Given the description of an element on the screen output the (x, y) to click on. 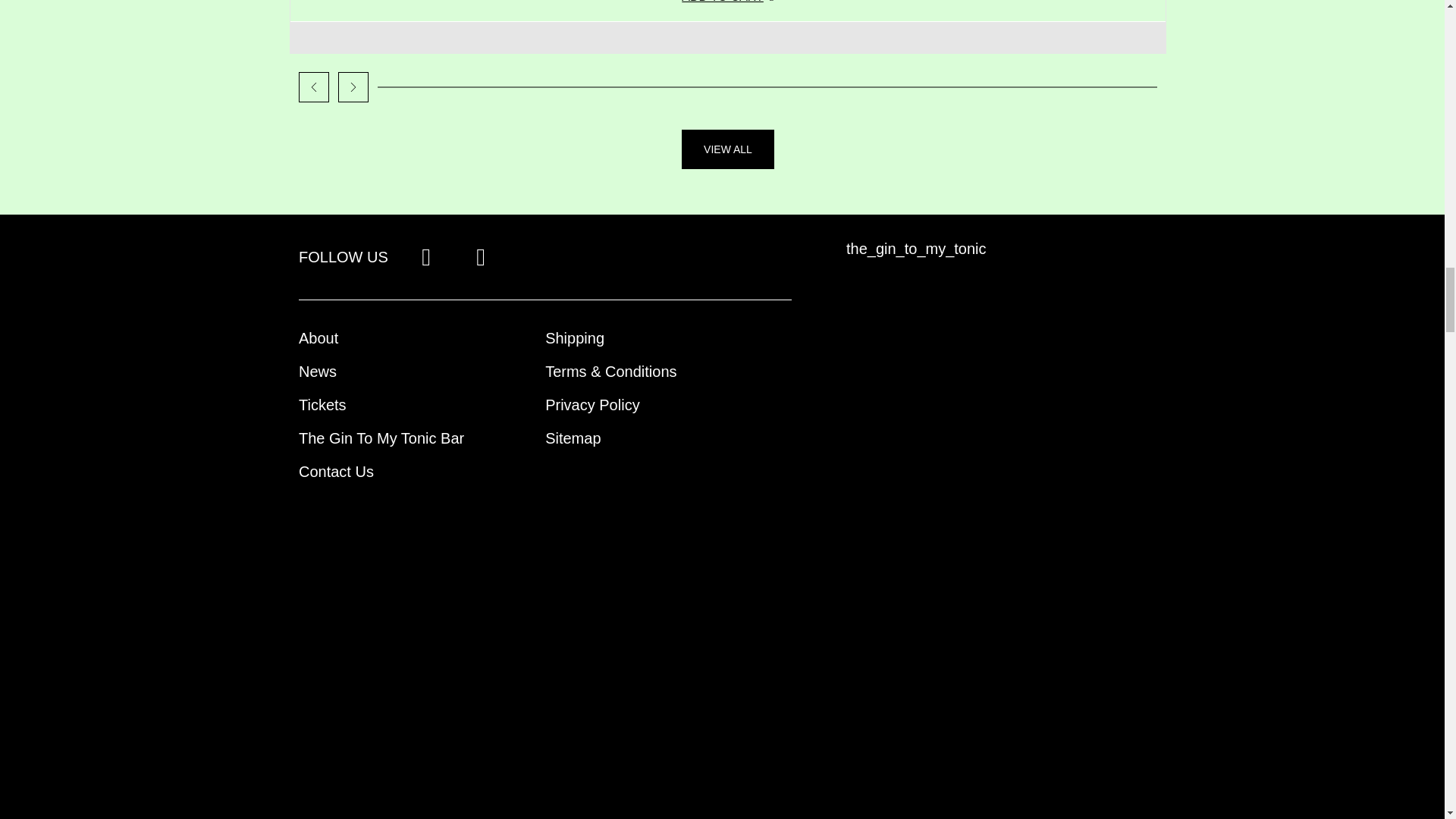
ADD TO CART (727, 10)
